Given the description of an element on the screen output the (x, y) to click on. 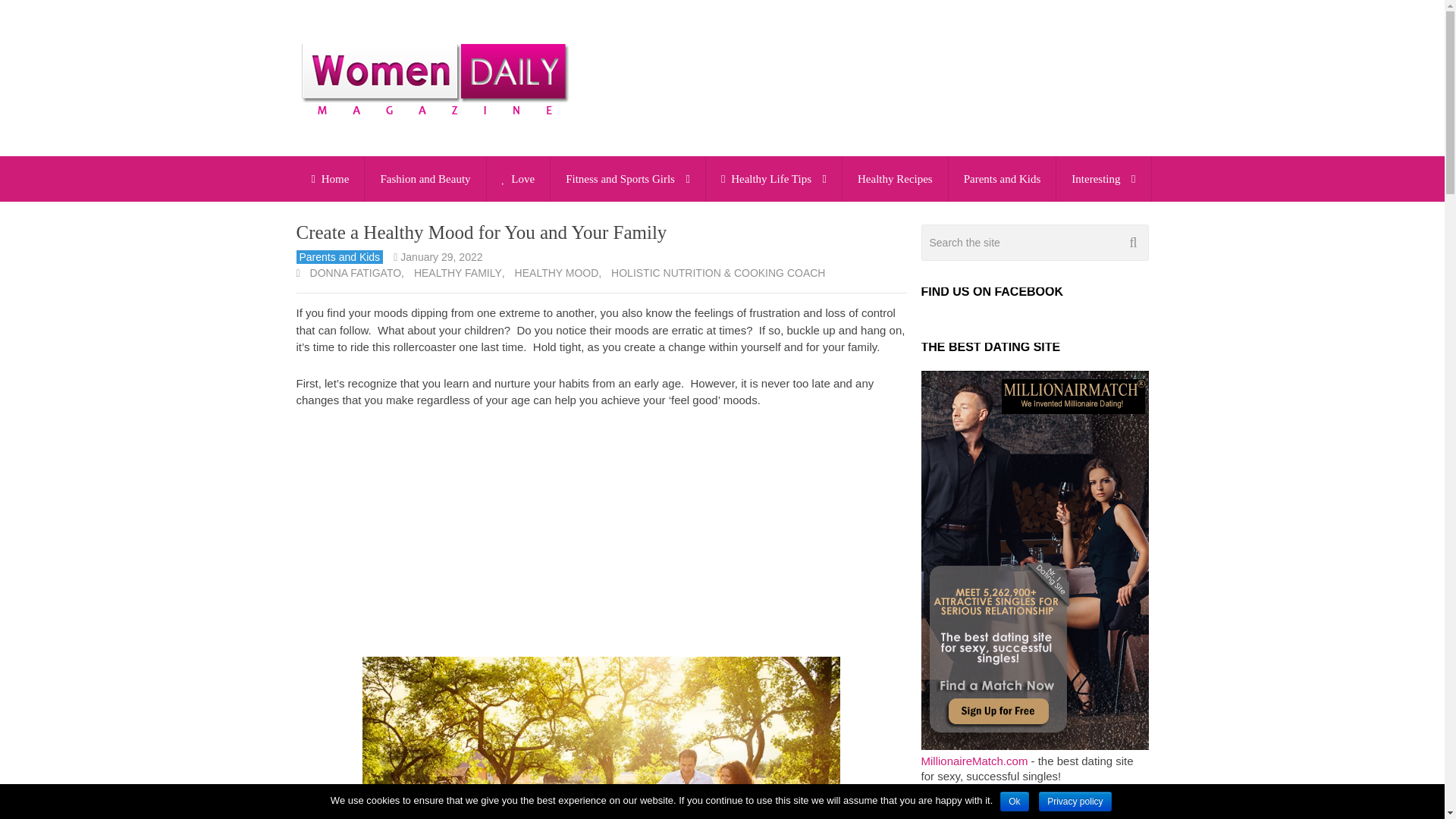
Parents and Kids (1003, 178)
HEALTHY MOOD (555, 272)
Interesting (1103, 178)
Love (518, 178)
Healthy Life Tips (773, 178)
DONNA FATIGATO (354, 272)
Home (329, 178)
View all posts in Parents and Kids (338, 256)
Parents and Kids (338, 256)
Fitness and Sports Girls (627, 178)
MillionaireMatch.com (973, 760)
Healthy Recipes (895, 178)
HEALTHY FAMILY (456, 272)
Advertisement (601, 534)
Fashion and Beauty (424, 178)
